Given the description of an element on the screen output the (x, y) to click on. 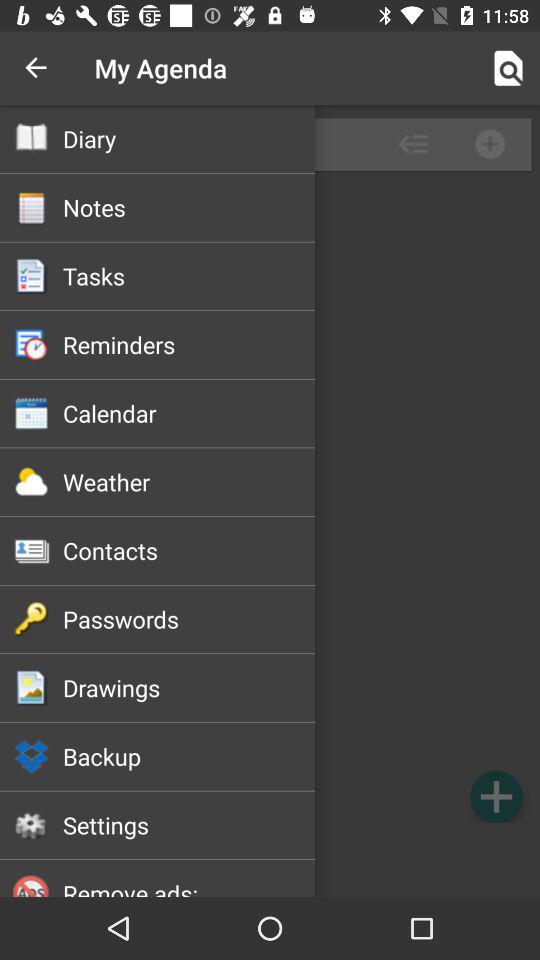
open backup icon (188, 756)
